Given the description of an element on the screen output the (x, y) to click on. 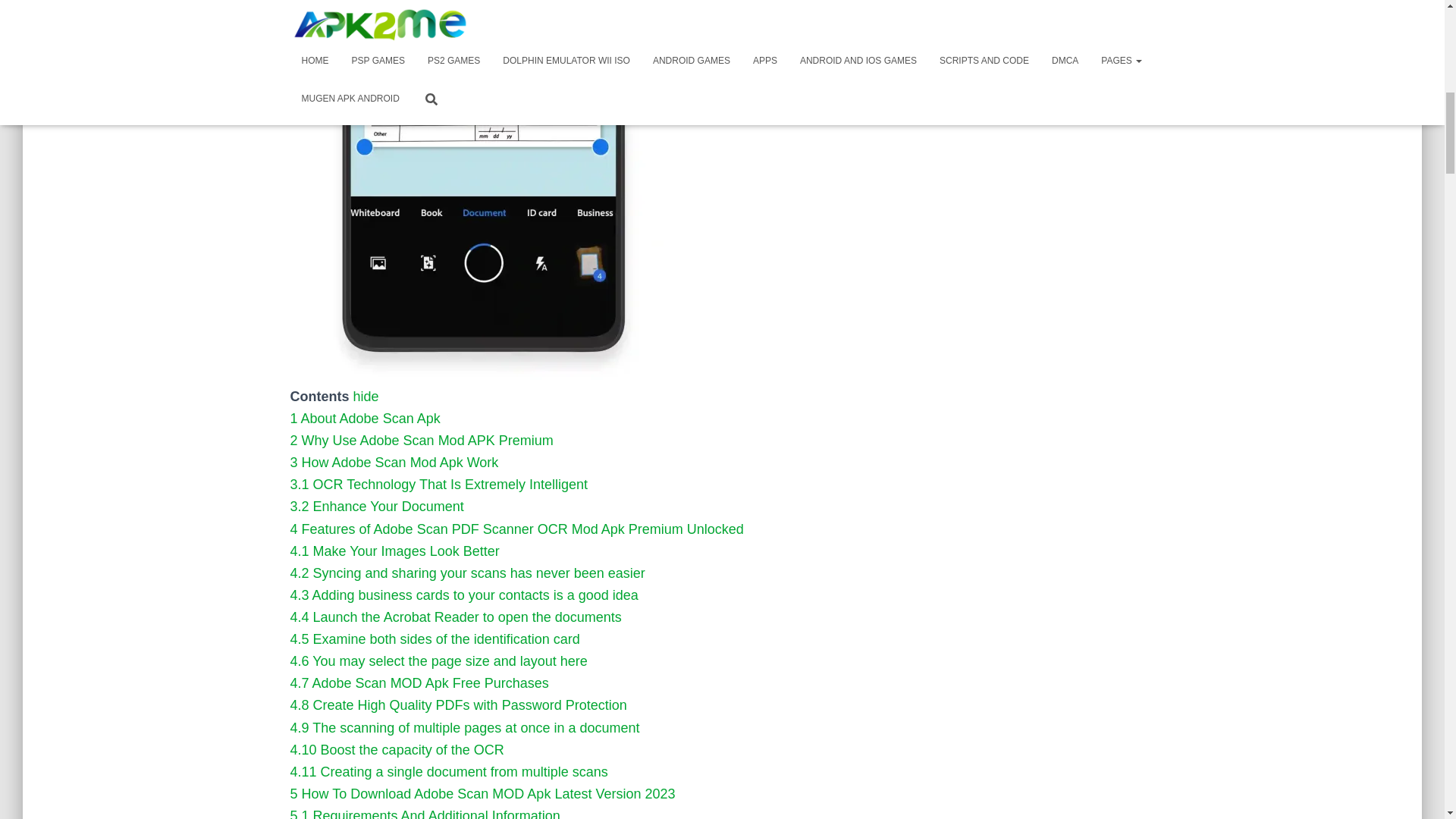
4.8 Create High Quality PDFs with Password Protection (457, 704)
4.11 Creating a single document from multiple scans (448, 771)
3.2 Enhance Your Document (376, 506)
2 Why Use Adobe Scan Mod APK Premium (421, 440)
1 About Adobe Scan Apk (364, 418)
4.4 Launch the Acrobat Reader to open the documents (455, 616)
4.3 Adding business cards to your contacts is a good idea (463, 595)
4.5 Examine both sides of the identification card (434, 639)
5.1 Requirements And Additional Information (424, 813)
4.9 The scanning of multiple pages at once in a document (464, 727)
3.1 OCR Technology That Is Extremely Intelligent (438, 484)
hide (365, 396)
4.7 Adobe Scan MOD Apk Free Purchases (418, 683)
3 How Adobe Scan Mod Apk Work (393, 462)
